Given the description of an element on the screen output the (x, y) to click on. 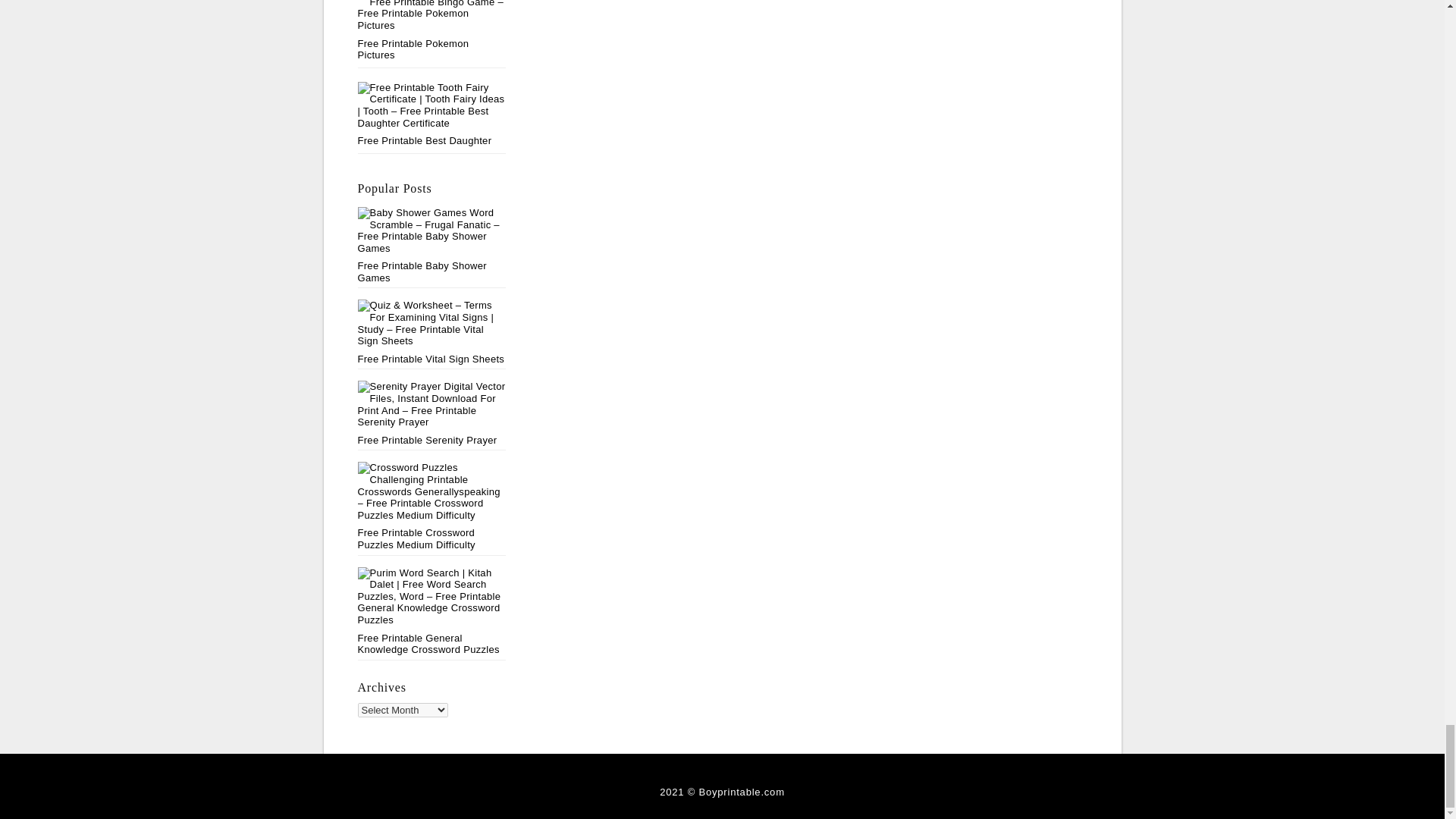
Free Printable Pokemon Pictures (413, 49)
Free Printable Best Daughter (425, 140)
Free Printable Baby Shower Games (432, 245)
